Given the description of an element on the screen output the (x, y) to click on. 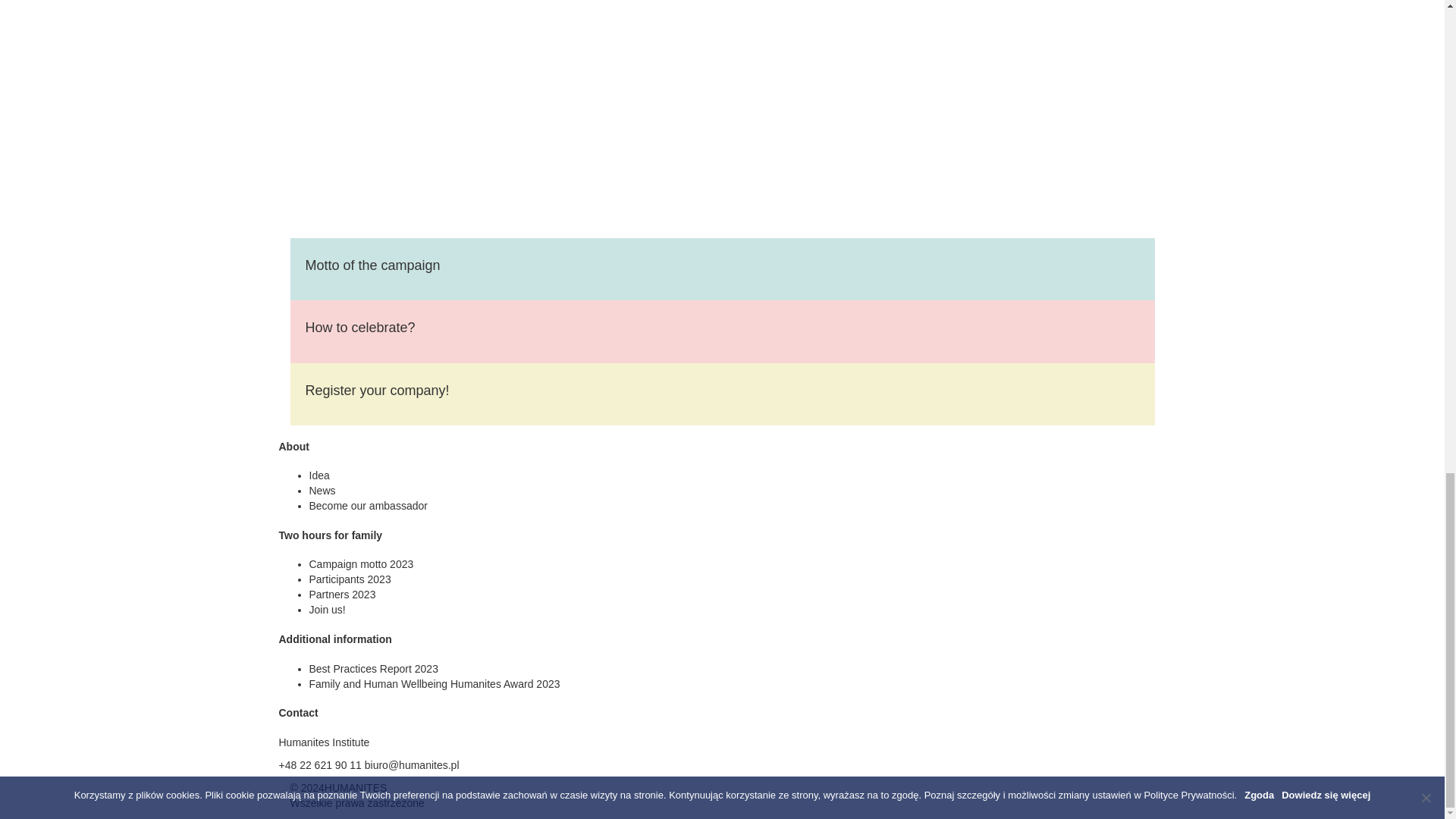
How to celebrate? (359, 327)
Register your company! (376, 390)
News (322, 490)
Motto of the campaign (371, 264)
Idea (319, 475)
